Given the description of an element on the screen output the (x, y) to click on. 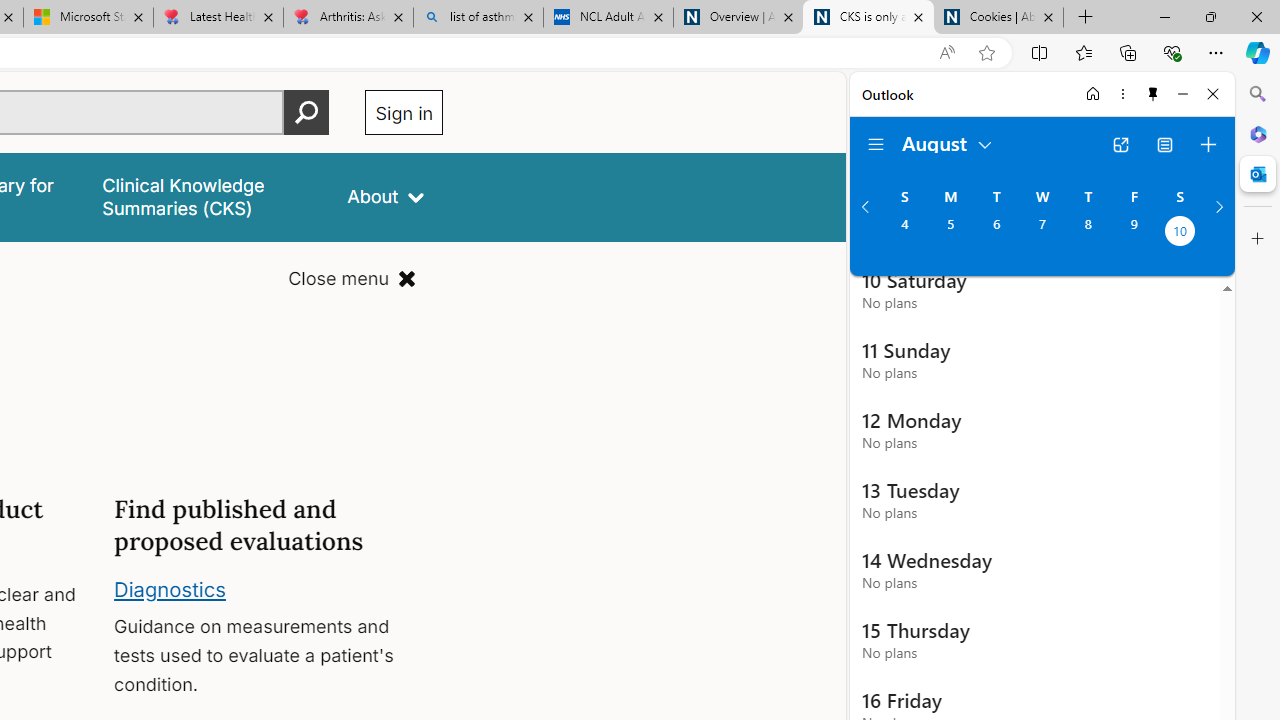
August (948, 141)
Perform search (307, 112)
Close menu (352, 278)
